Given the description of an element on the screen output the (x, y) to click on. 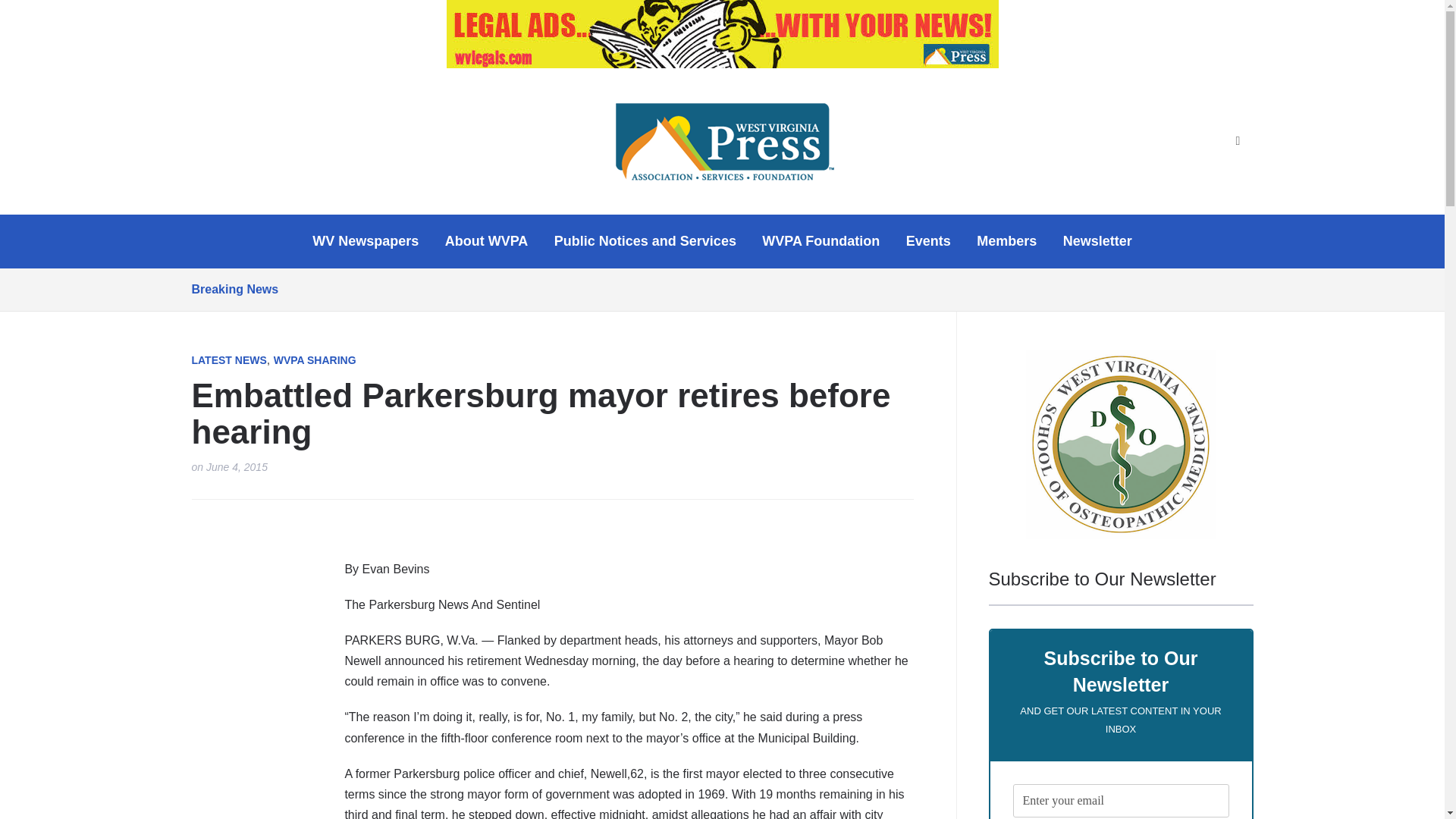
Public Notices and Services (645, 241)
About WVPA (486, 241)
WV Newspapers (366, 241)
Search (1237, 141)
